Given the description of an element on the screen output the (x, y) to click on. 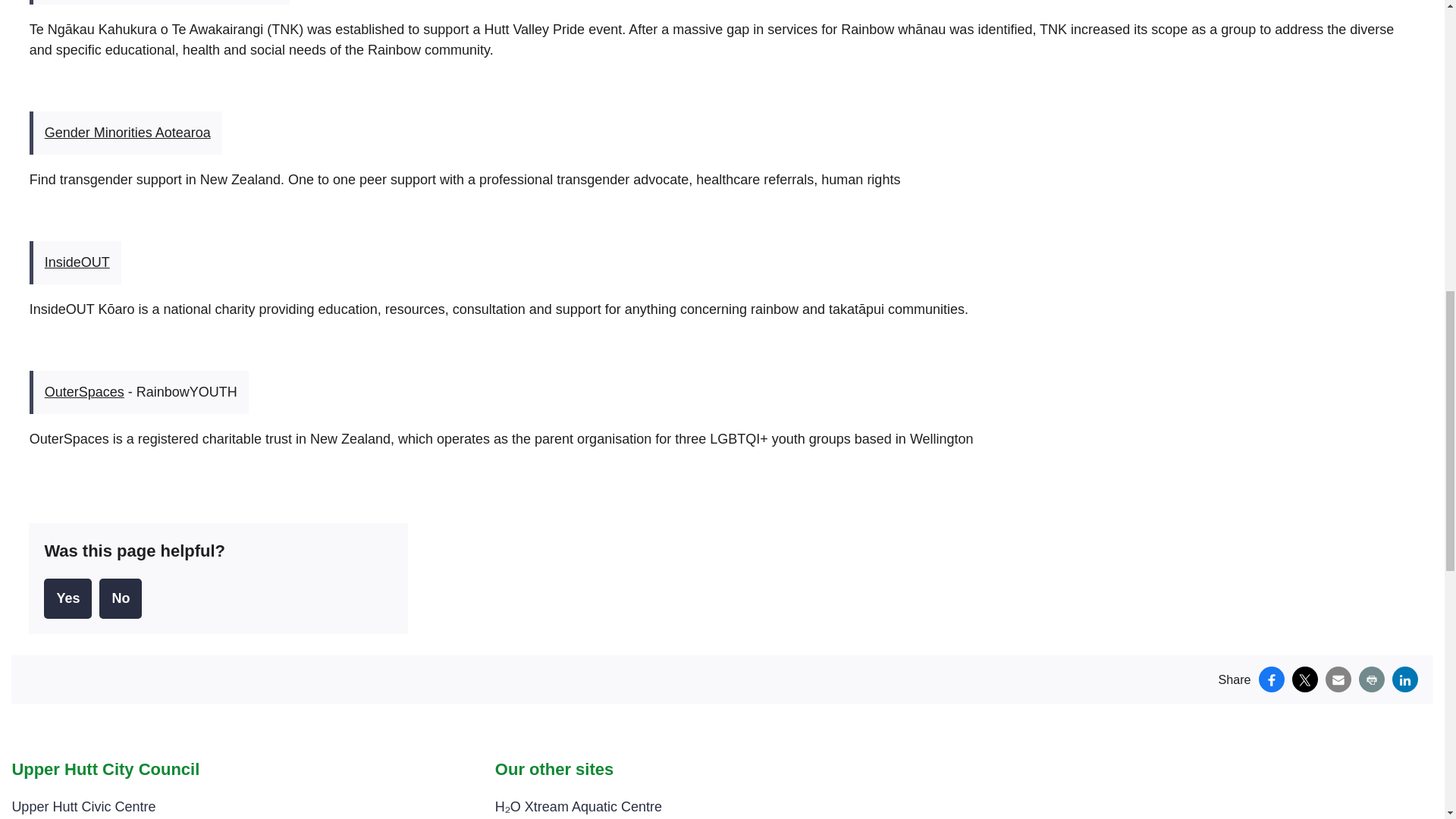
Yes, this page was helpful (67, 598)
No, this page was not helpful (120, 598)
Yes (67, 598)
No (120, 598)
